Given the description of an element on the screen output the (x, y) to click on. 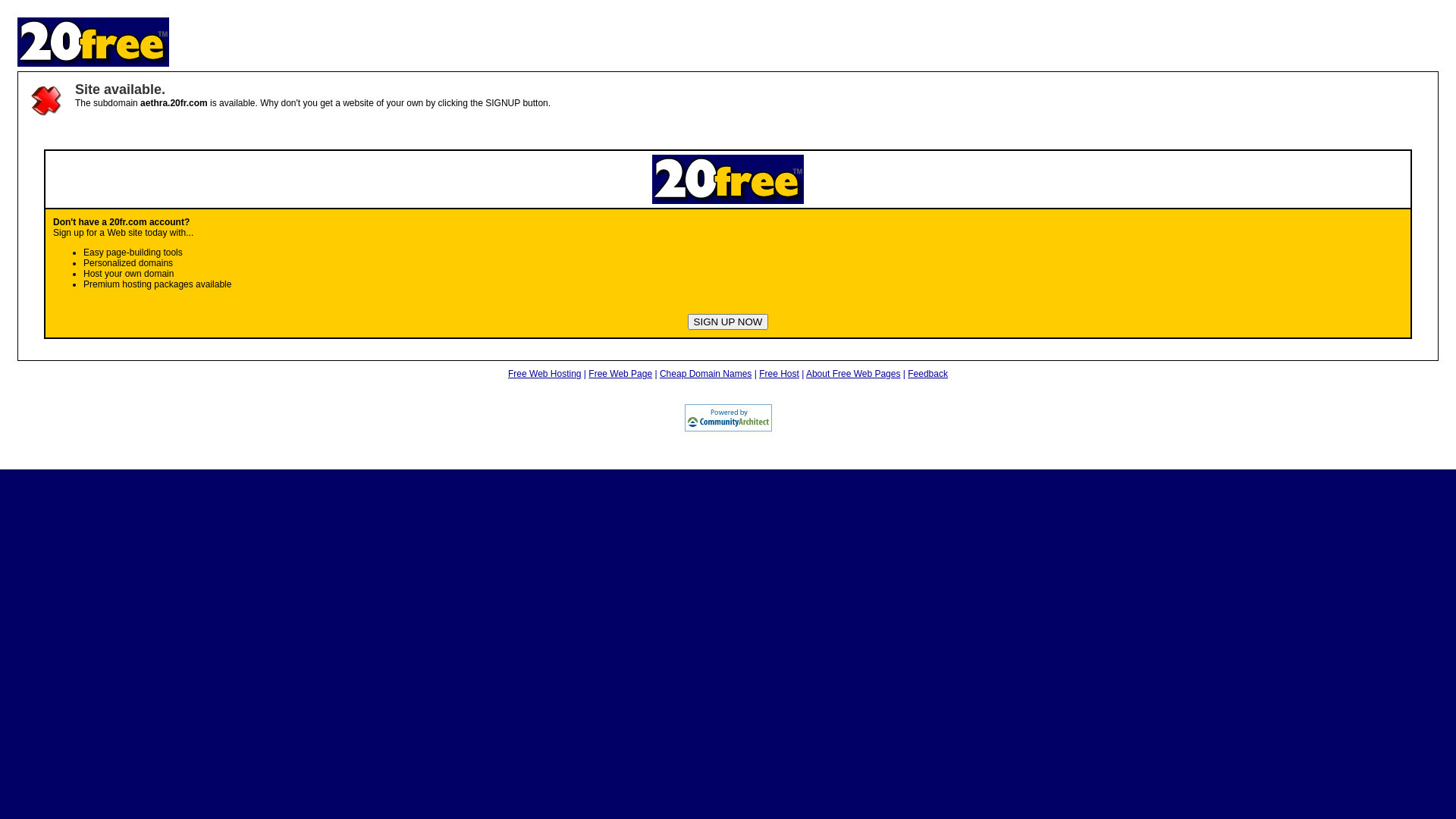
Free Host Element type: text (779, 373)
Feedback Element type: text (927, 373)
Free Web Hosting Element type: text (544, 373)
Free Web Page Element type: text (620, 373)
SIGN UP NOW Element type: text (727, 321)
Cheap Domain Names Element type: text (705, 373)
About Free Web Pages Element type: text (853, 373)
